Given the description of an element on the screen output the (x, y) to click on. 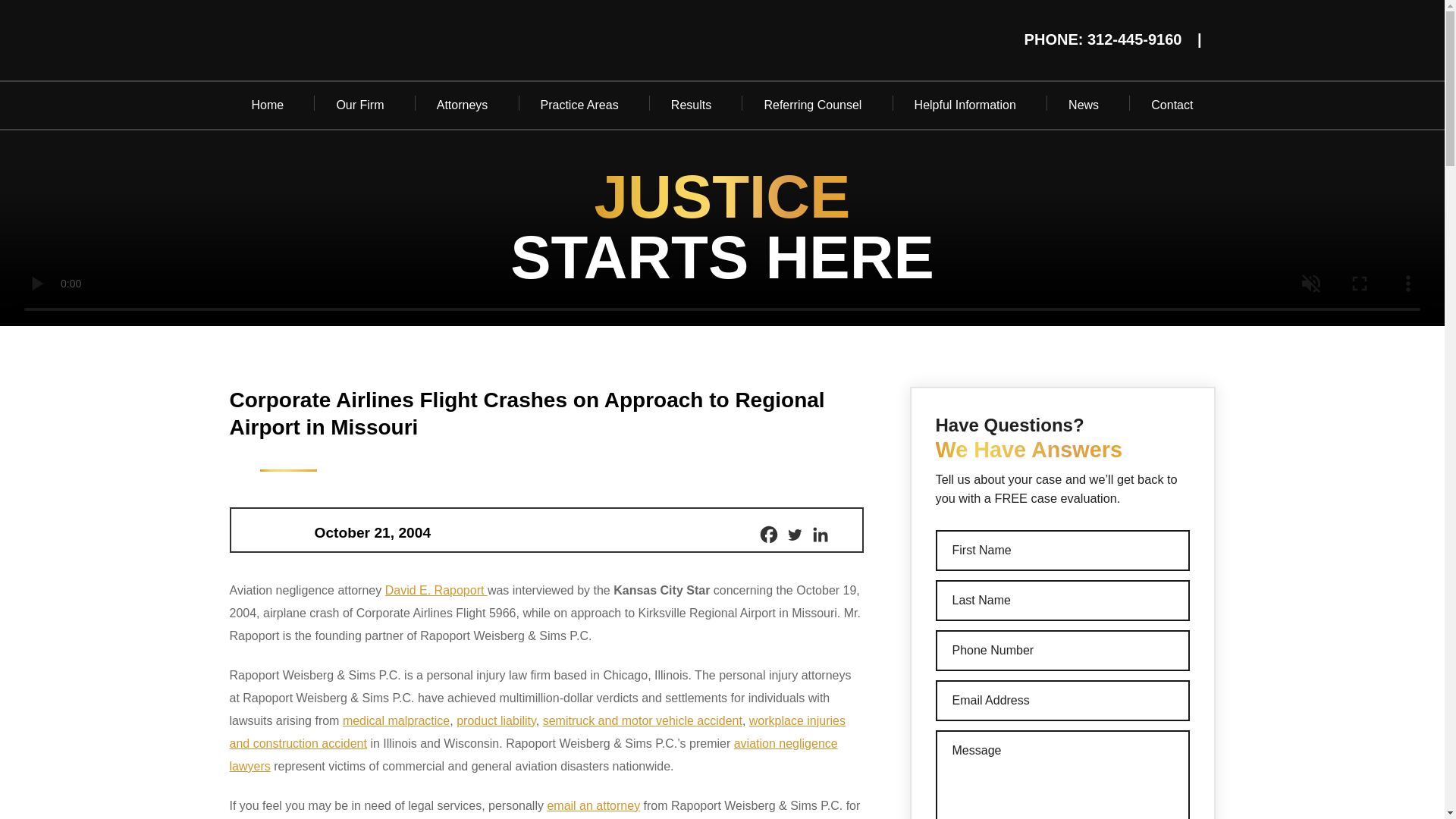
Helpful Information (965, 105)
Referring Counsel (812, 105)
Linkedin (819, 534)
semitruck and motor vehicle accident (642, 720)
Home (266, 105)
News (1083, 105)
aviation negligence lawyers (532, 755)
Results (691, 105)
Practice Areas (579, 105)
